Given the description of an element on the screen output the (x, y) to click on. 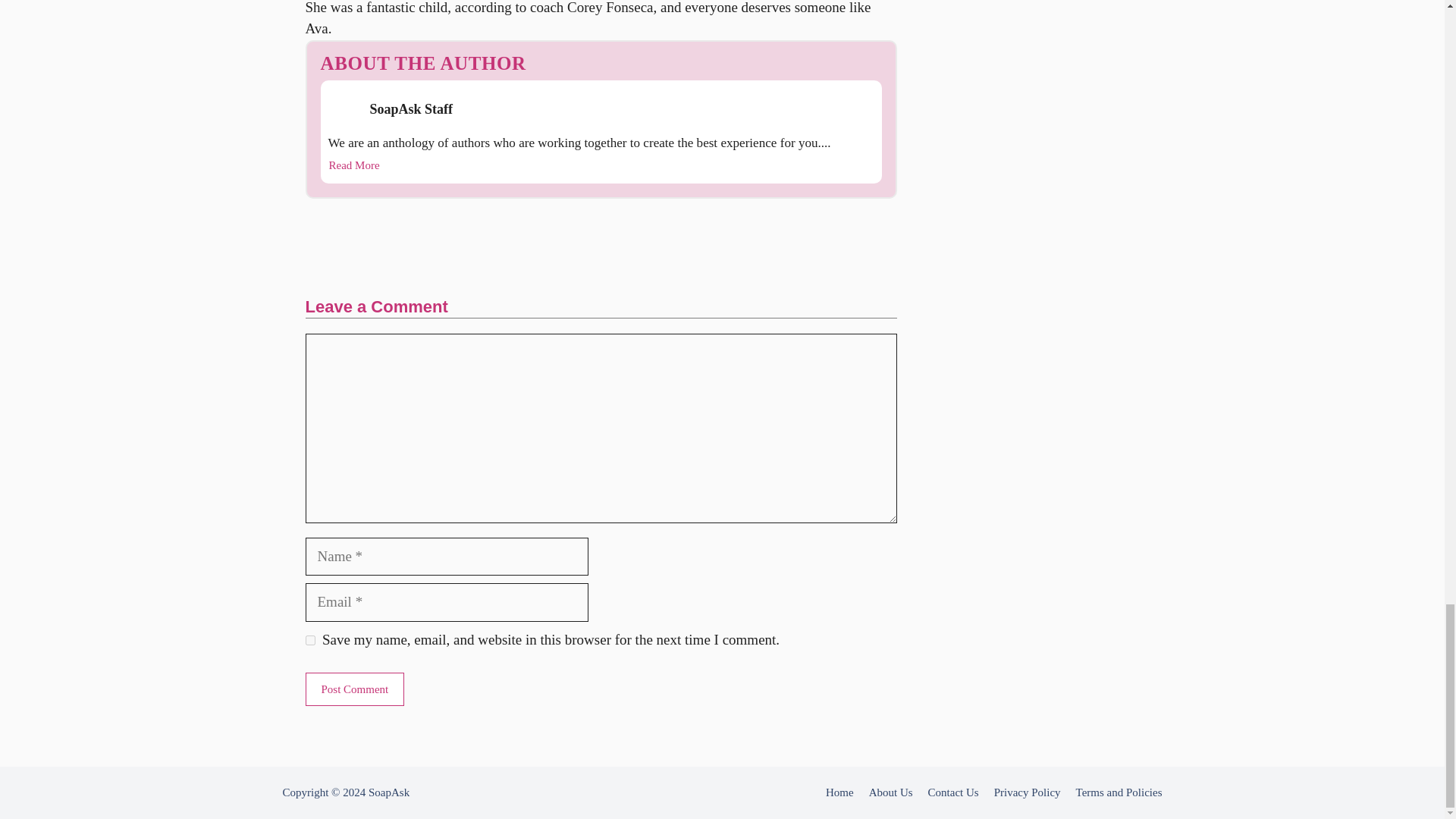
yes (309, 640)
Post Comment (354, 689)
